Given the description of an element on the screen output the (x, y) to click on. 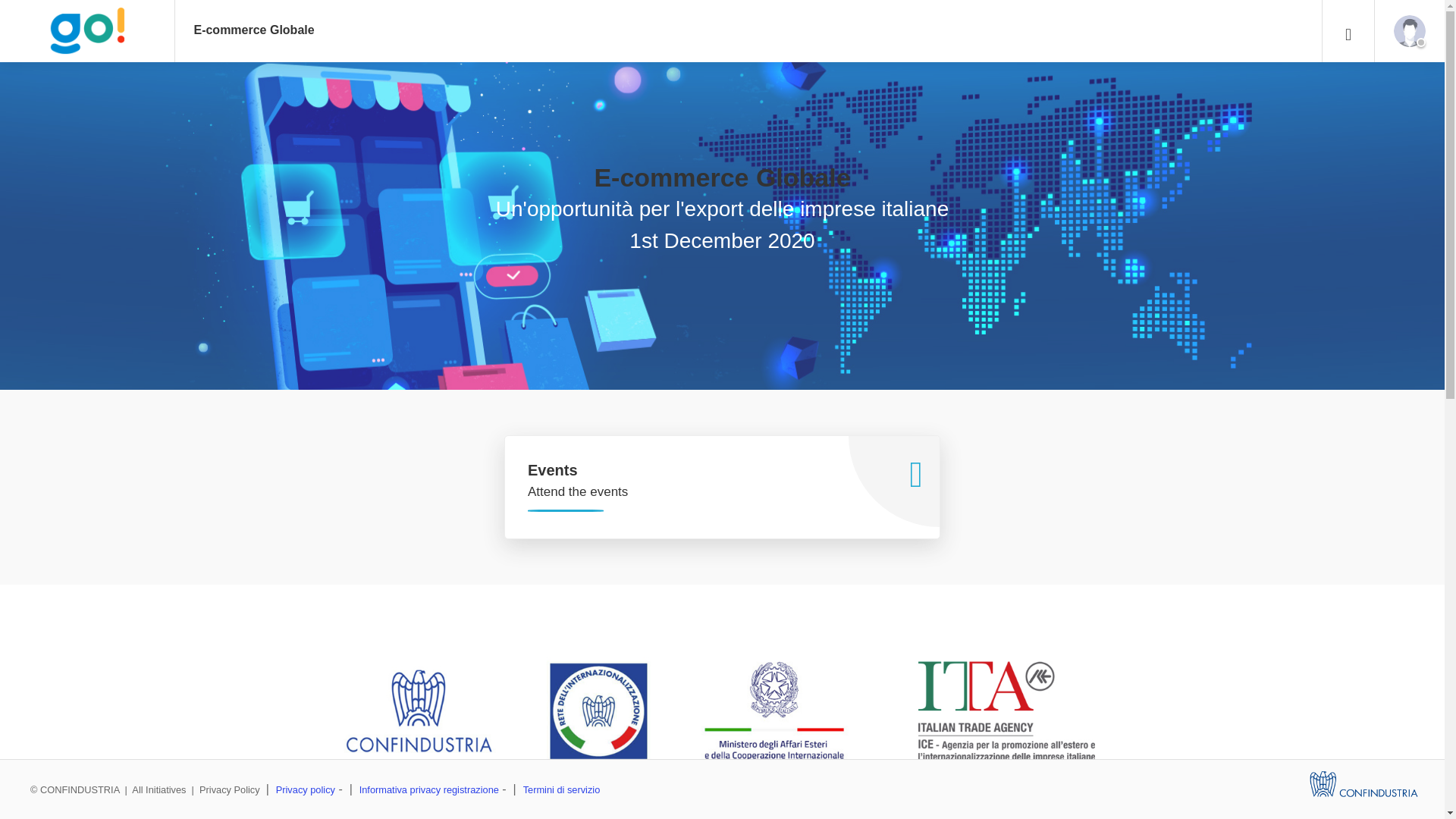
Privacy Policy (229, 789)
Termini di servizio (560, 788)
All Initiatives (159, 789)
Privacy policy (305, 788)
Informativa privacy registrazione (429, 788)
